Given the description of an element on the screen output the (x, y) to click on. 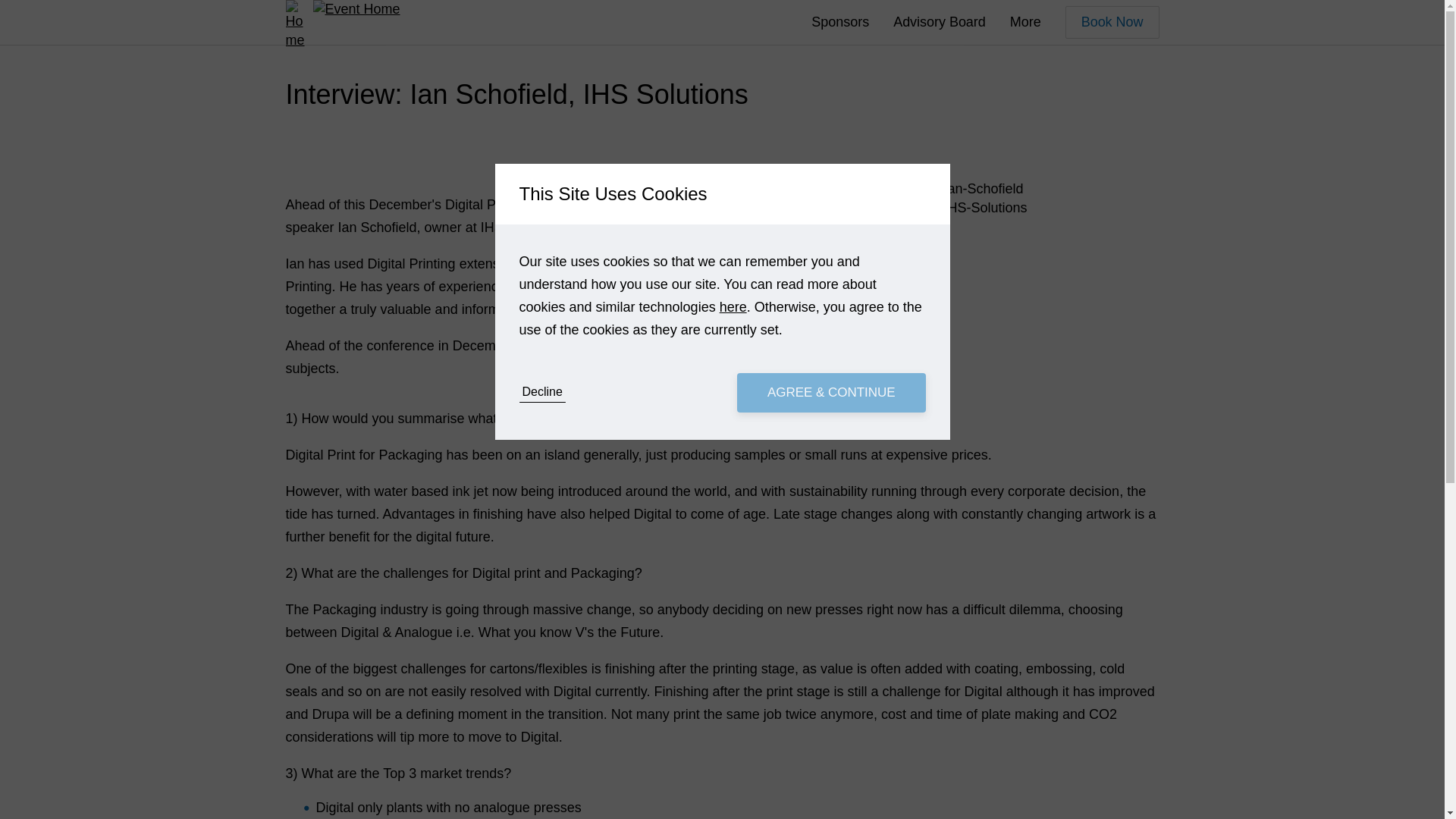
Sponsors (839, 21)
Book Now (1111, 21)
Decline (541, 393)
More (1025, 21)
here (732, 306)
Advisory Board (939, 21)
